Given the description of an element on the screen output the (x, y) to click on. 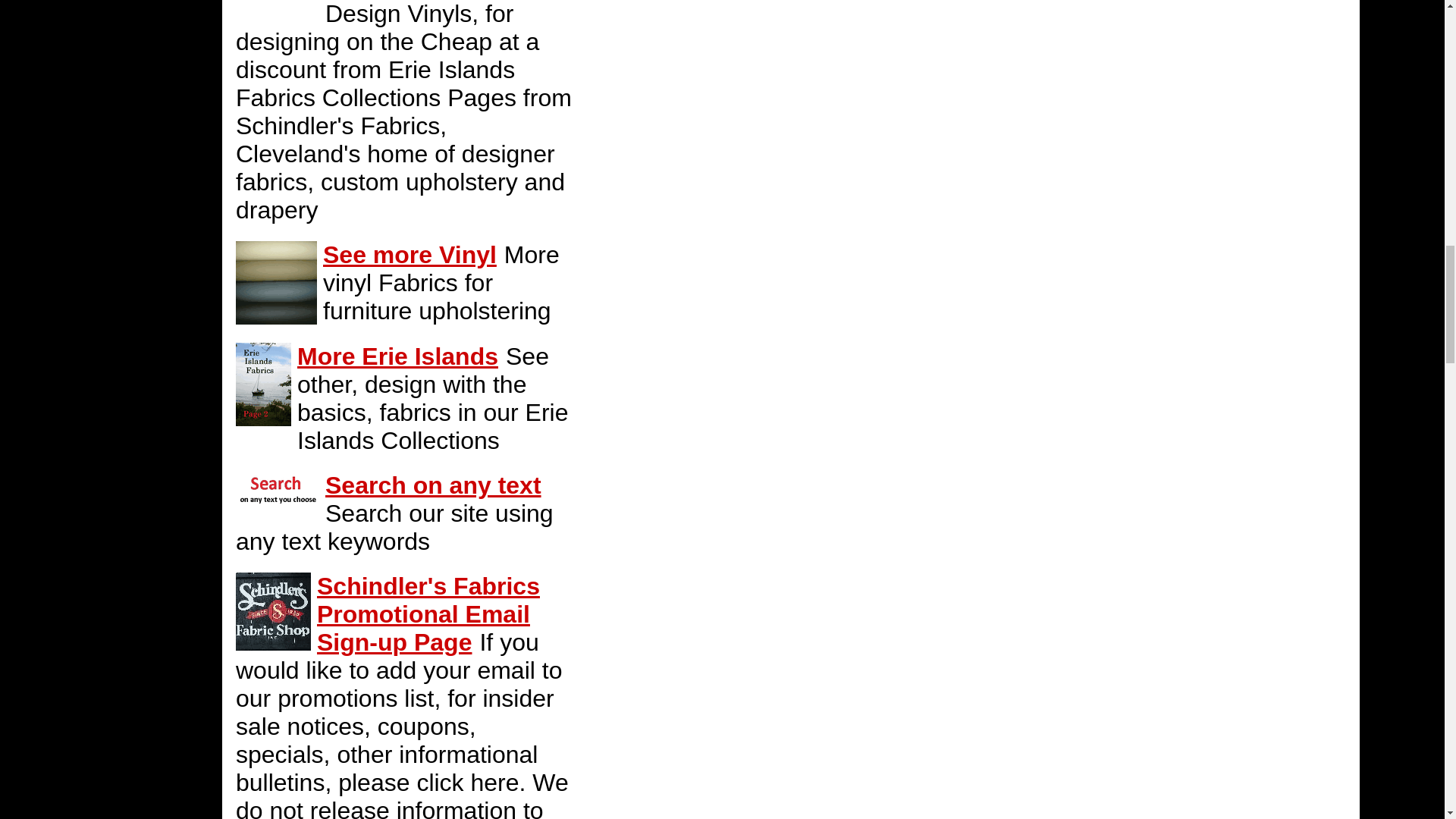
More Erie Islands (397, 356)
See more Vinyl (409, 254)
Schindler's Fabrics Promotional Email Sign-up Page (428, 614)
Search on any text (432, 484)
